Given the description of an element on the screen output the (x, y) to click on. 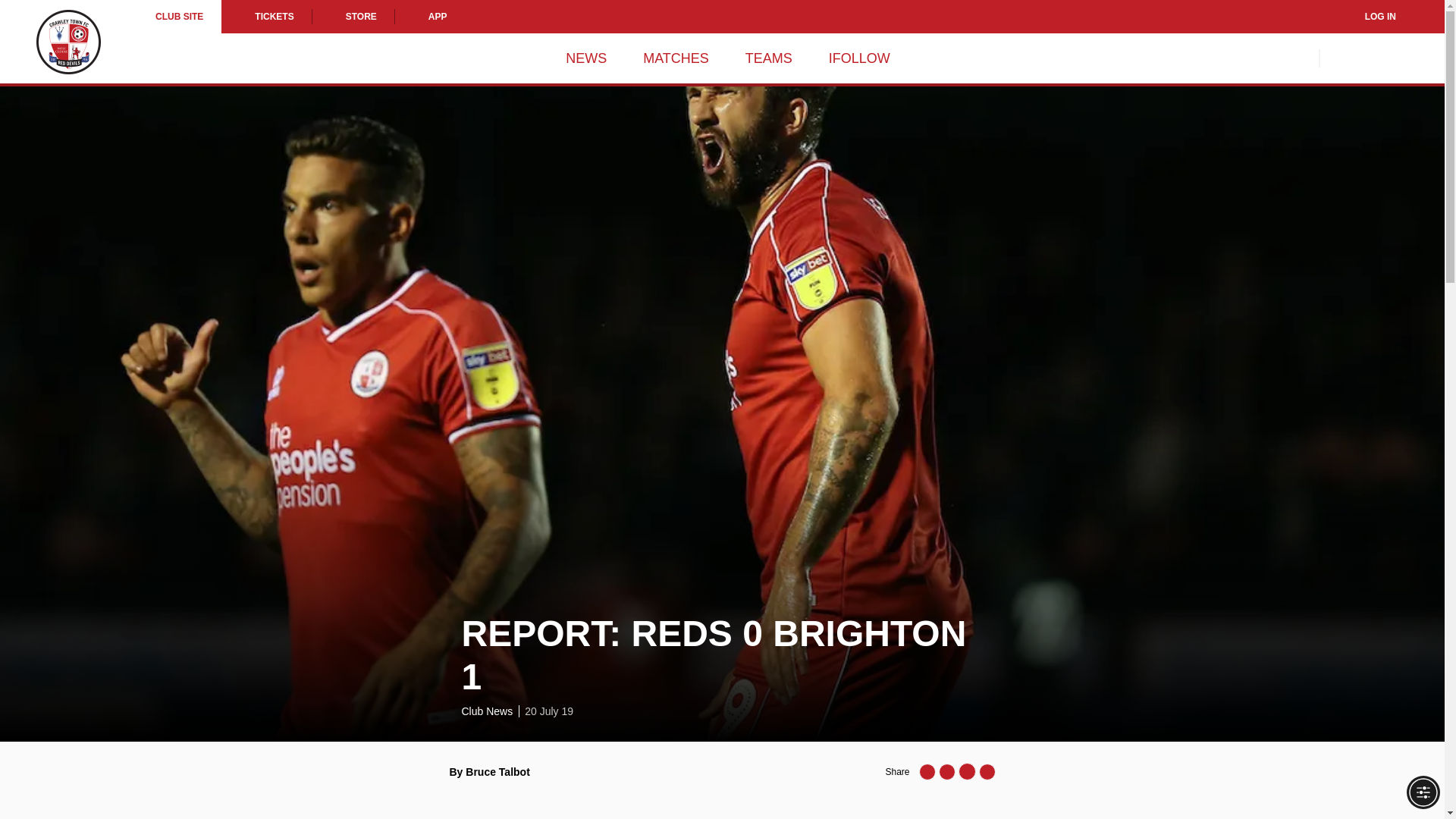
TEAMS (768, 58)
CLUB SITE (178, 16)
Help widget launcher (75, 781)
TICKETS (266, 16)
APP (429, 16)
STORE (353, 16)
MATCHES (676, 58)
Accessibility Menu (1422, 792)
IFOLLOW (858, 58)
